Given the description of an element on the screen output the (x, y) to click on. 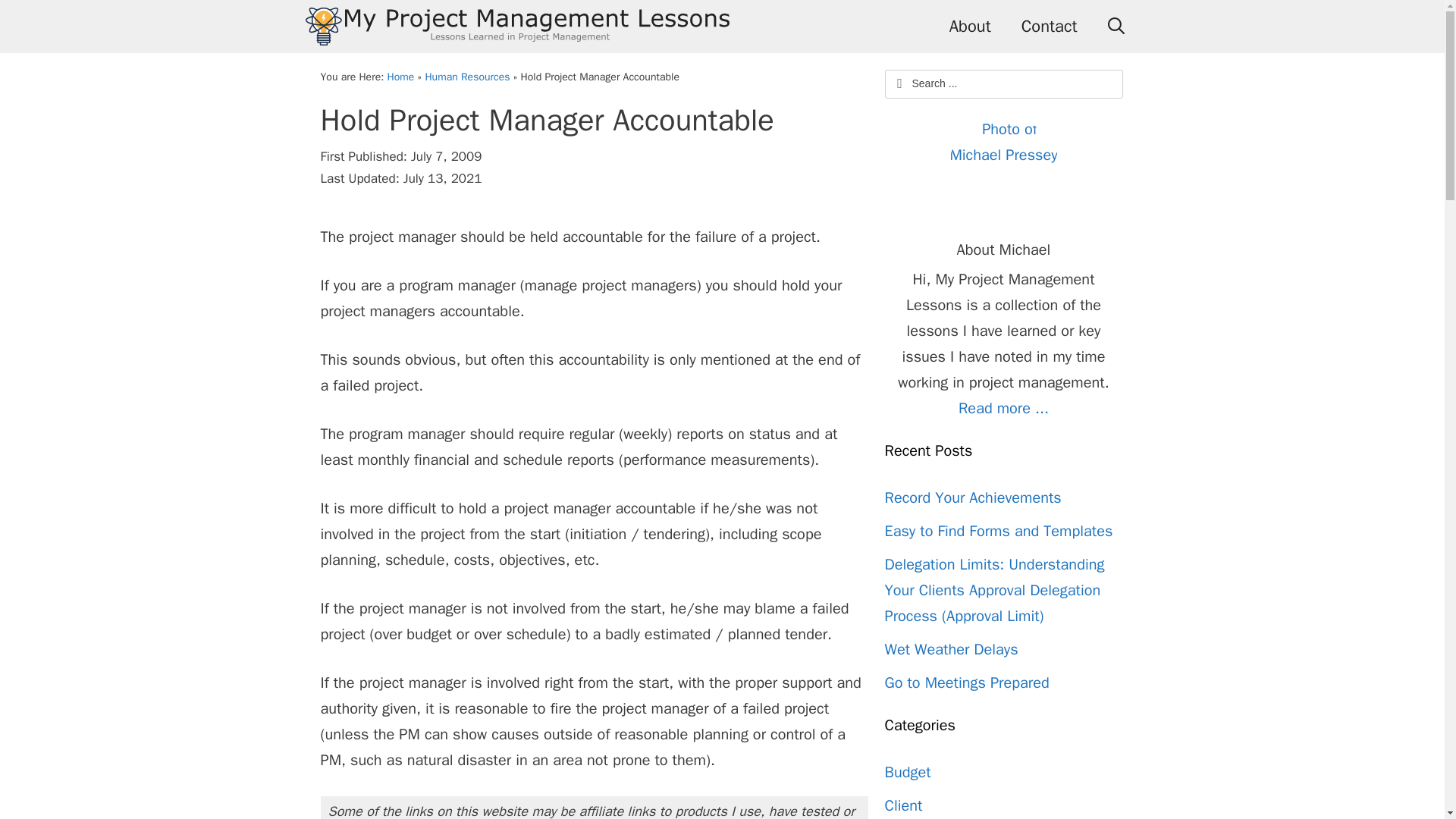
My Project Management Lessons (516, 26)
Client (902, 805)
Record Your Achievements (972, 497)
Human Resources (467, 76)
Michael Pressey - My Project Management Lessons (1002, 173)
Contact (1049, 26)
Easy to Find Forms and Templates (997, 530)
Wet Weather Delays (950, 649)
Go to Meetings Prepared (965, 682)
Read more ... (1003, 407)
